Given the description of an element on the screen output the (x, y) to click on. 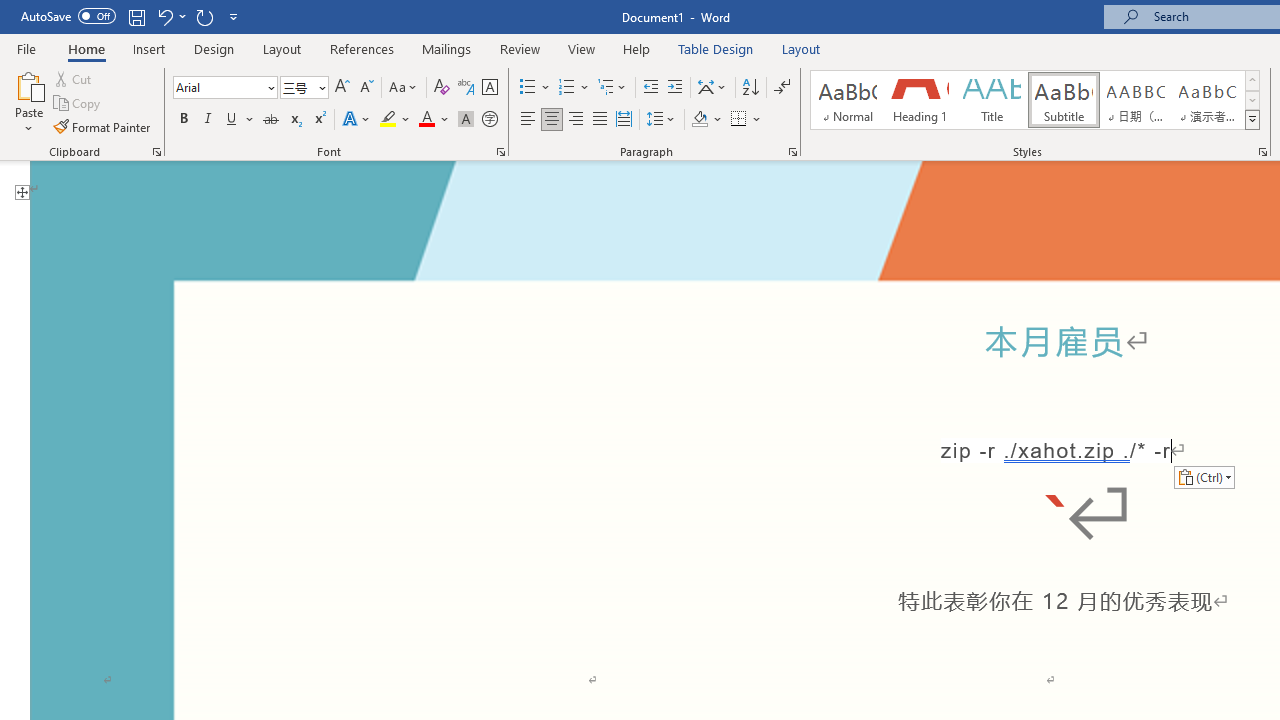
Asian Layout (712, 87)
Styles (1252, 120)
Copy (78, 103)
Office Clipboard... (156, 151)
Action: Paste alternatives (1204, 476)
Text Highlight Color (395, 119)
Styles... (1262, 151)
